Given the description of an element on the screen output the (x, y) to click on. 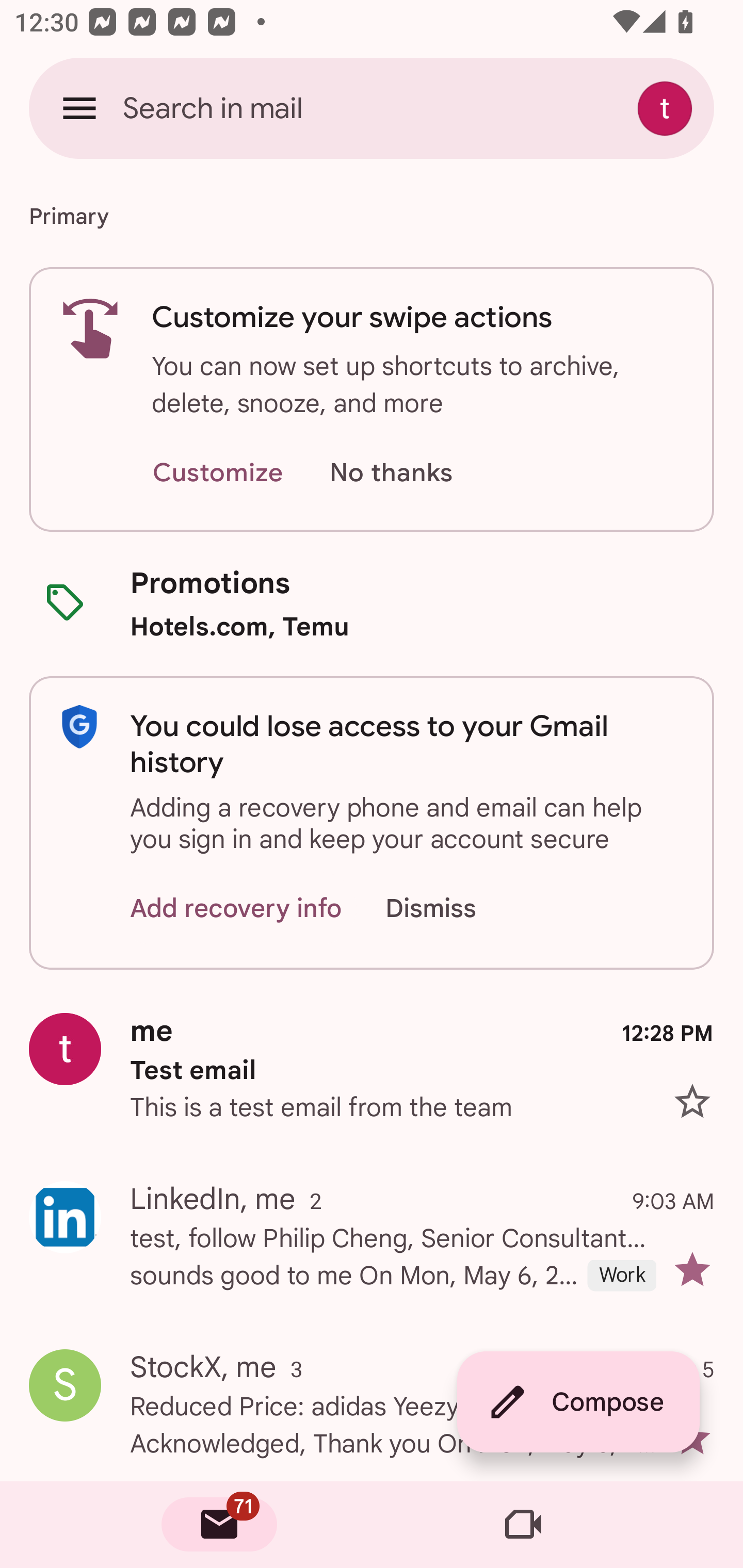
Open navigation drawer (79, 108)
Customize (217, 473)
No thanks (390, 473)
Promotions Hotels.com, Temu (371, 603)
Add recovery info (235, 908)
Dismiss (449, 908)
Compose (577, 1401)
Meet (523, 1524)
